Given the description of an element on the screen output the (x, y) to click on. 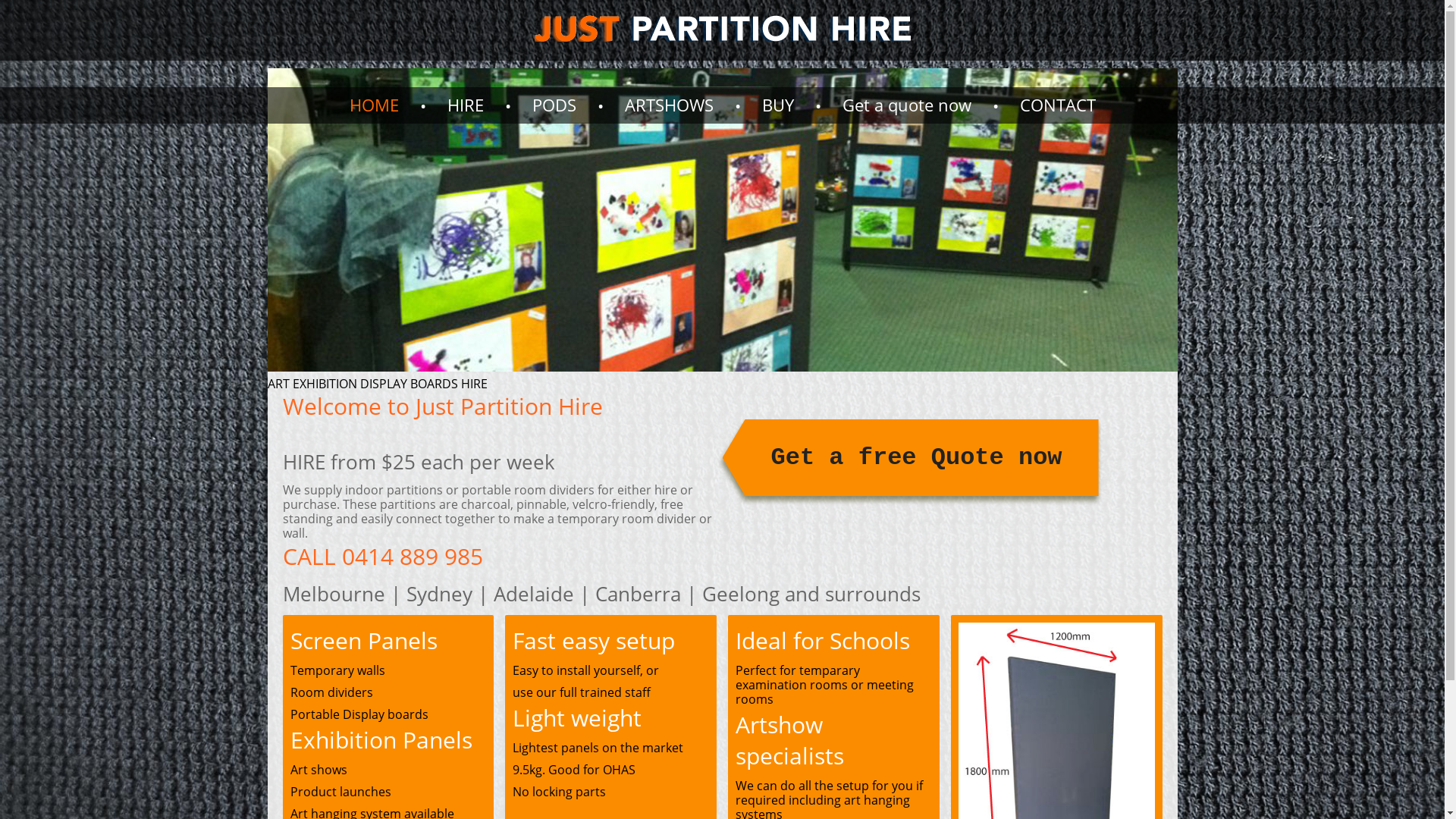
Get a free Quote now Element type: text (909, 459)
